Given the description of an element on the screen output the (x, y) to click on. 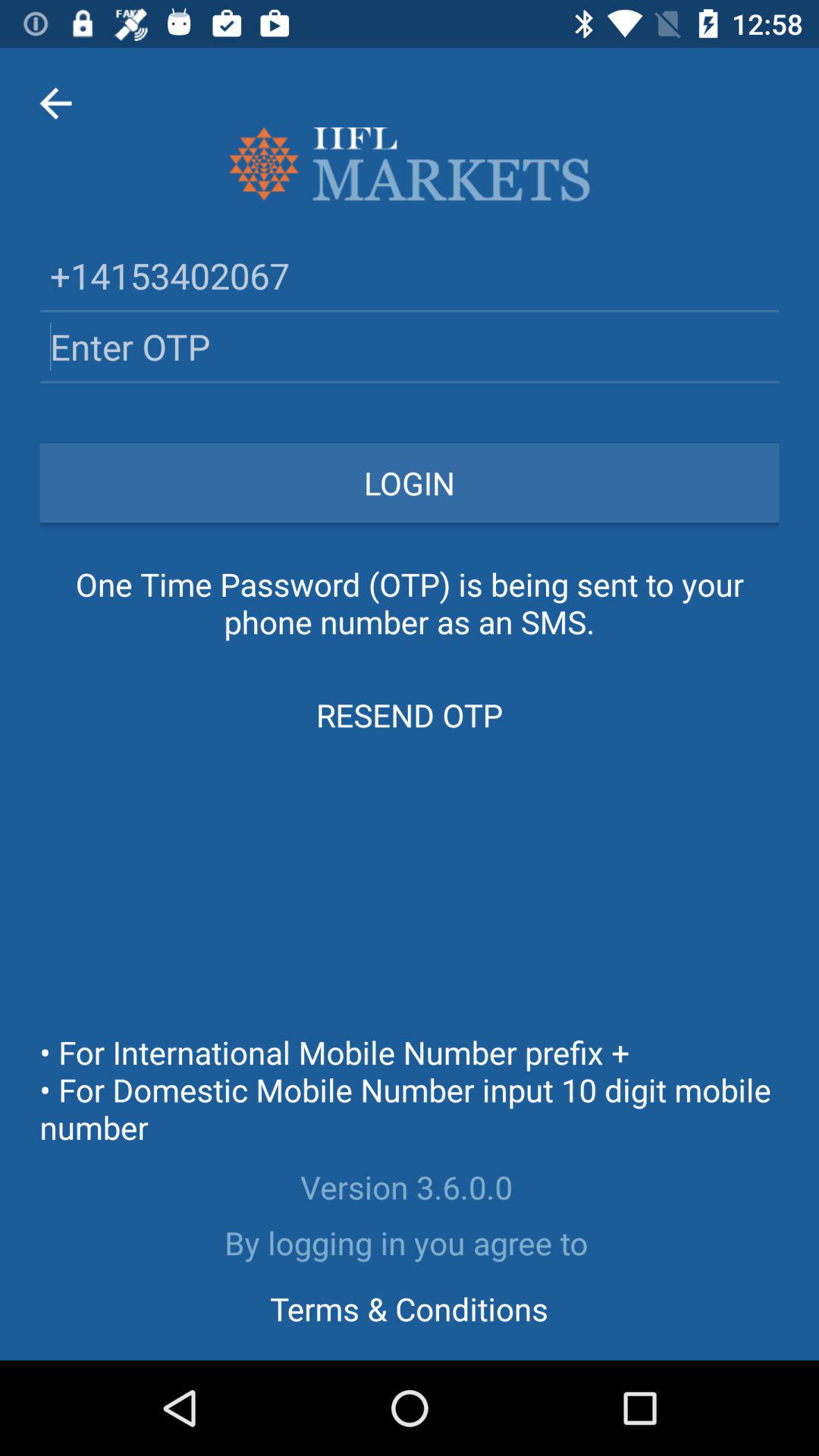
otp textbox (409, 346)
